Given the description of an element on the screen output the (x, y) to click on. 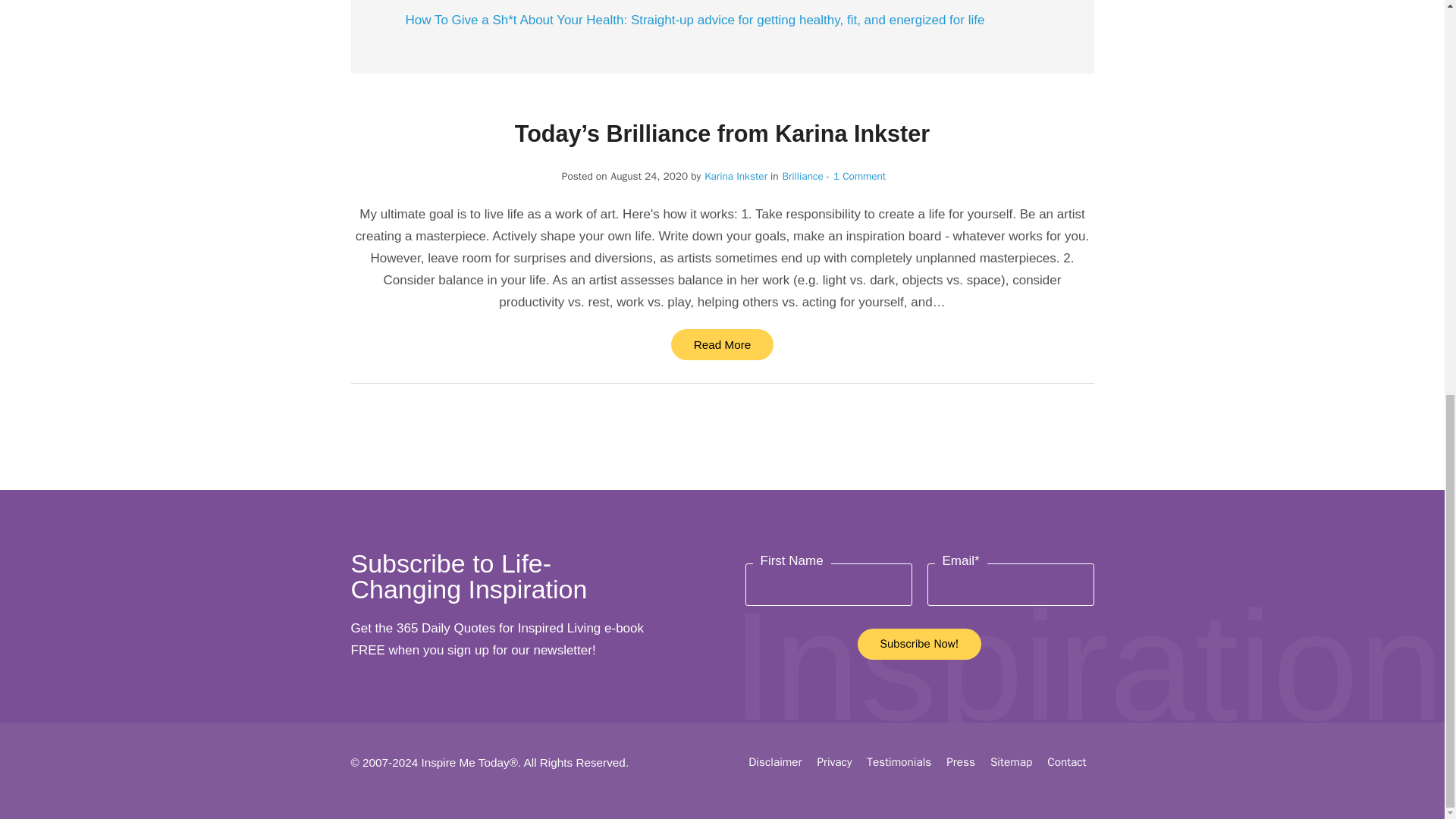
Disclaimer (775, 761)
Testimonials (898, 761)
1 Comment (858, 176)
Contact (1066, 761)
Subscribe Now! (919, 644)
Privacy (833, 761)
Karina Inkster (735, 176)
Read More (722, 344)
1 Comment (856, 176)
Press (960, 761)
Testimonials (898, 761)
Brilliance (803, 176)
Privacy (833, 761)
Sitemap (1011, 761)
Posts by Karina Inkster (735, 176)
